Given the description of an element on the screen output the (x, y) to click on. 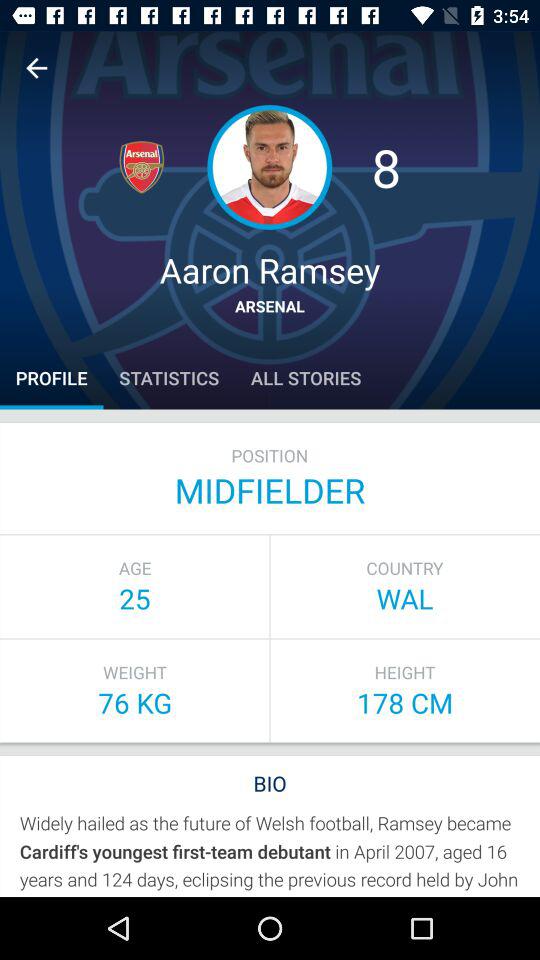
go back (36, 68)
